Given the description of an element on the screen output the (x, y) to click on. 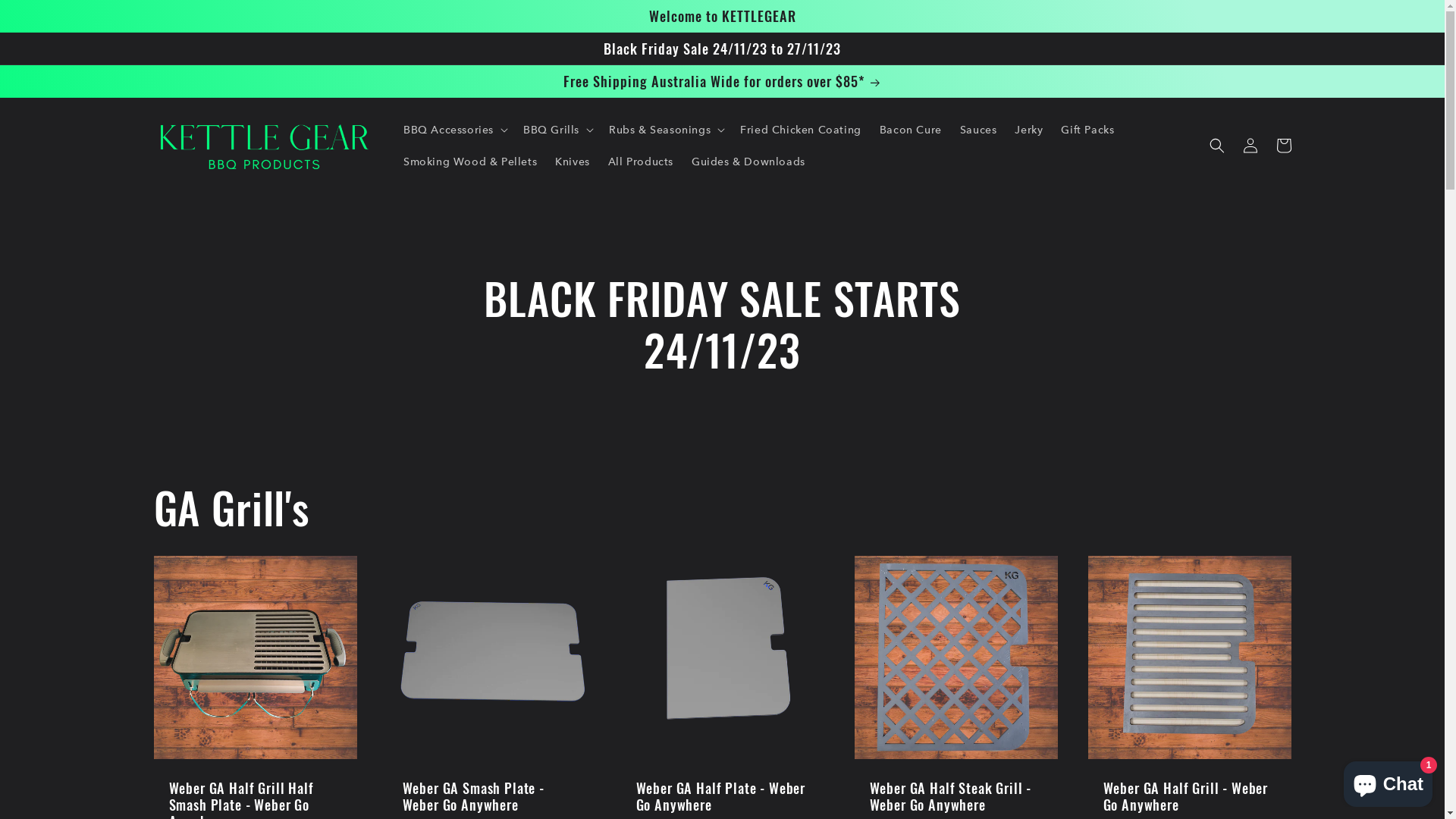
Shopify online store chat Element type: hover (1388, 780)
Jerky Element type: text (1028, 129)
All Products Element type: text (640, 161)
Bacon Cure Element type: text (910, 129)
Fried Chicken Coating Element type: text (800, 129)
Log in Element type: text (1249, 145)
Cart Element type: text (1282, 145)
Weber GA Half Steak Grill - Weber Go Anywhere Element type: text (955, 795)
Weber GA Smash Plate - Weber Go Anywhere Element type: text (487, 795)
Weber GA Half Grill - Weber Go Anywhere Element type: text (1188, 795)
Free Shipping Australia Wide for orders over $85* Element type: text (722, 81)
Guides & Downloads Element type: text (748, 161)
Gift Packs Element type: text (1087, 129)
Smoking Wood & Pellets Element type: text (470, 161)
Sauces Element type: text (978, 129)
Weber GA Half Plate - Weber Go Anywhere Element type: text (721, 795)
Knives Element type: text (572, 161)
